Given the description of an element on the screen output the (x, y) to click on. 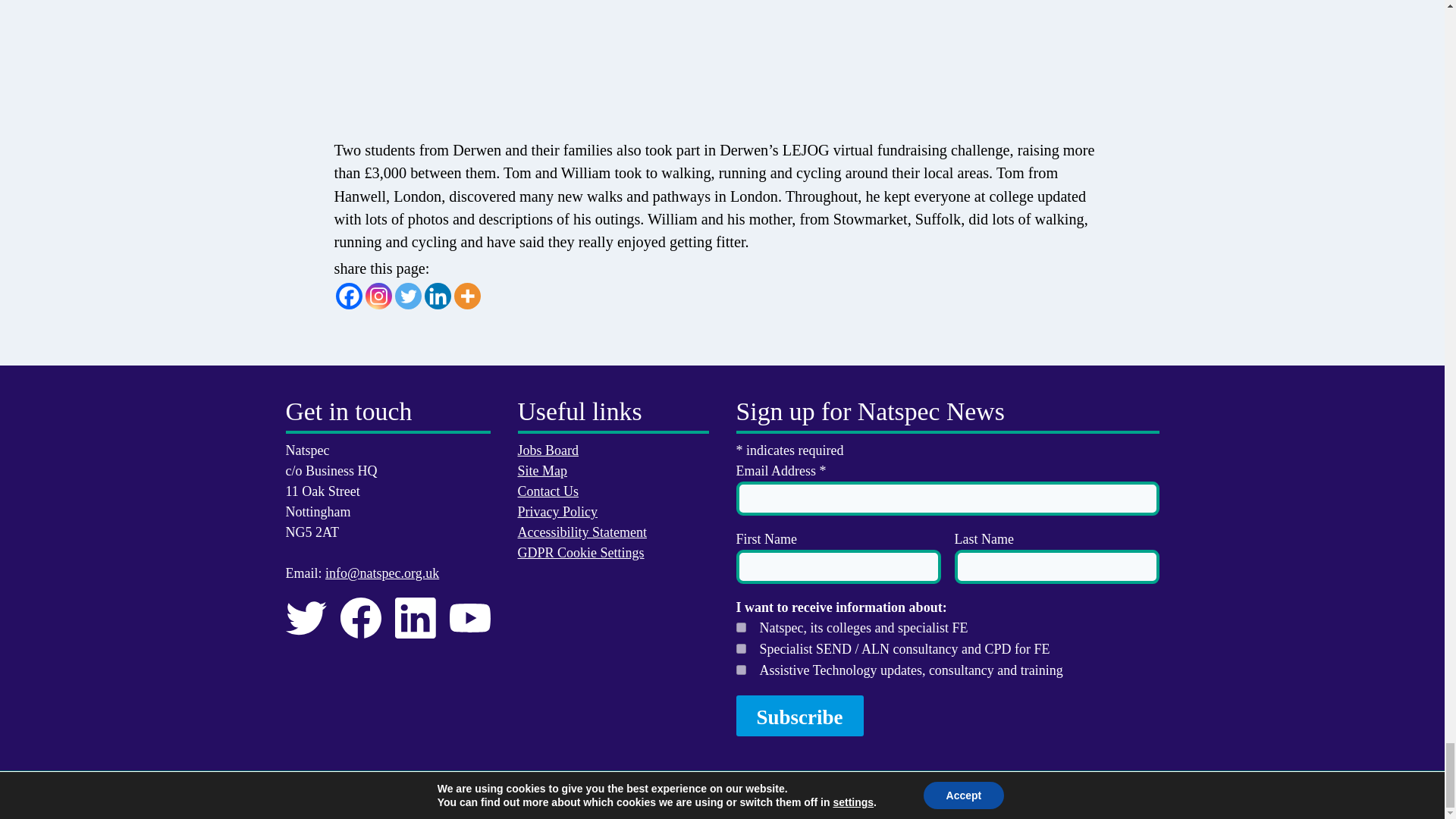
Subscribe (799, 715)
2 (740, 648)
1 (740, 627)
4 (740, 669)
